Given the description of an element on the screen output the (x, y) to click on. 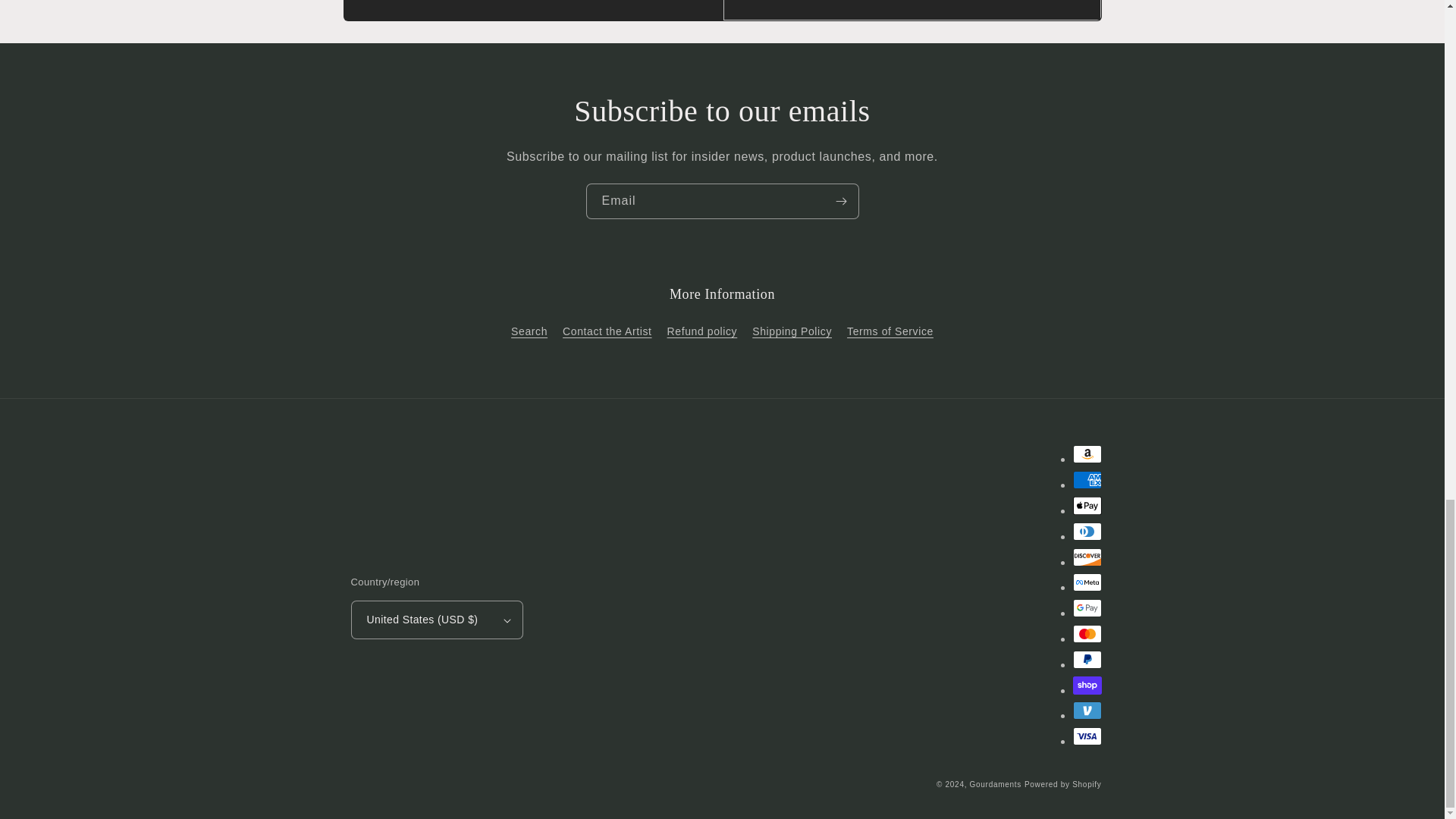
Apple Pay (1085, 505)
American Express (1085, 479)
Amazon (1085, 454)
